Given the description of an element on the screen output the (x, y) to click on. 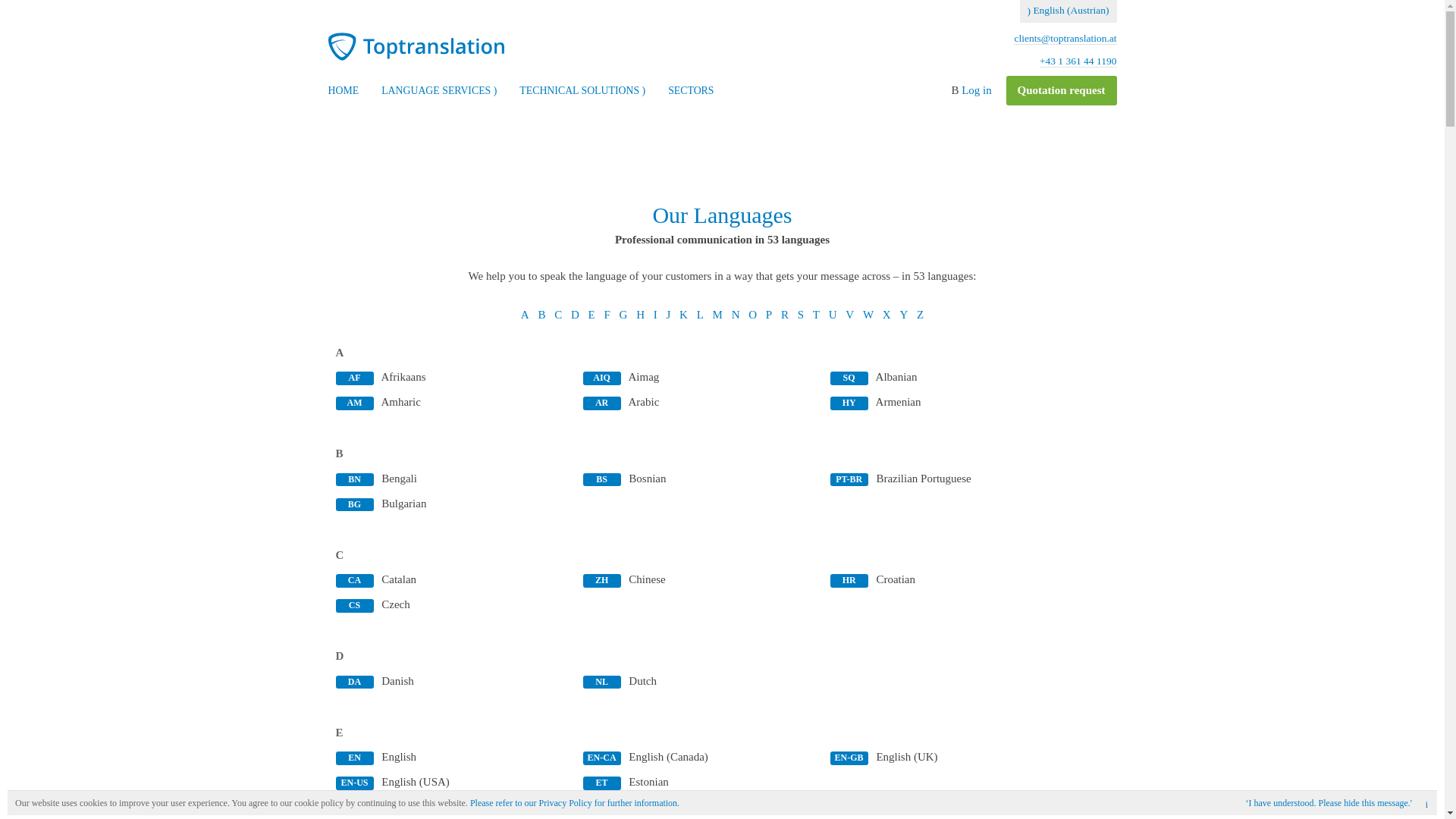
LANGUAGE SERVICES (438, 90)
HOME (342, 90)
Log in (975, 90)
SECTORS (690, 90)
Please refer to our Privacy Policy for further information. (574, 802)
Quotation request (1061, 90)
TECHNICAL SOLUTIONS (582, 90)
